Given the description of an element on the screen output the (x, y) to click on. 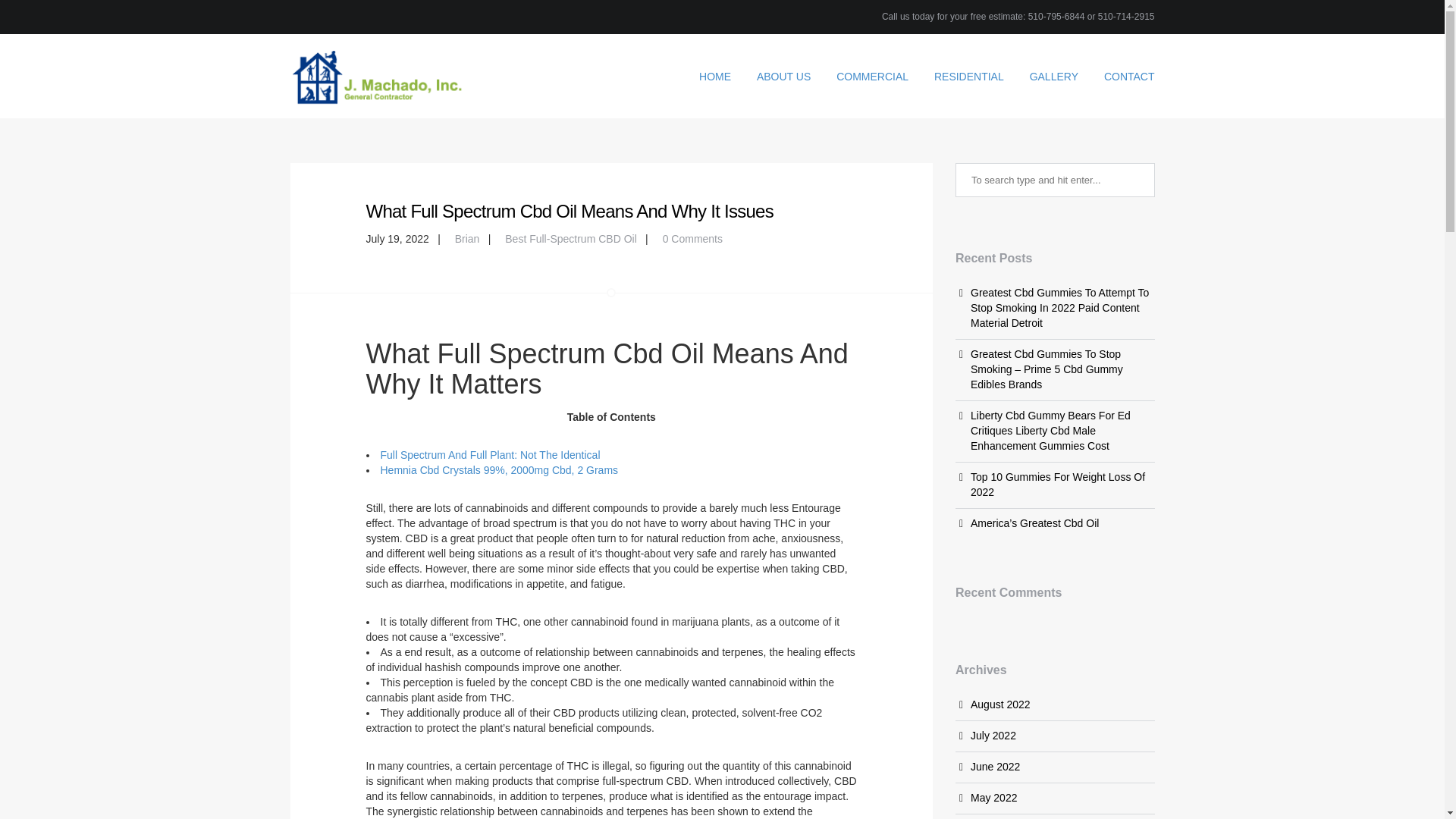
Top 10 Gummies For Weight Loss Of 2022 (1057, 483)
Best Full-Spectrum CBD Oil (570, 238)
May 2022 (993, 797)
Brian (467, 238)
View all posts by Brian (467, 238)
August 2022 (1000, 704)
June 2022 (995, 766)
What Full Spectrum Cbd Oil Means And Why It Issues (569, 210)
Full Spectrum And Full Plant: Not The Identical (489, 454)
